Given the description of an element on the screen output the (x, y) to click on. 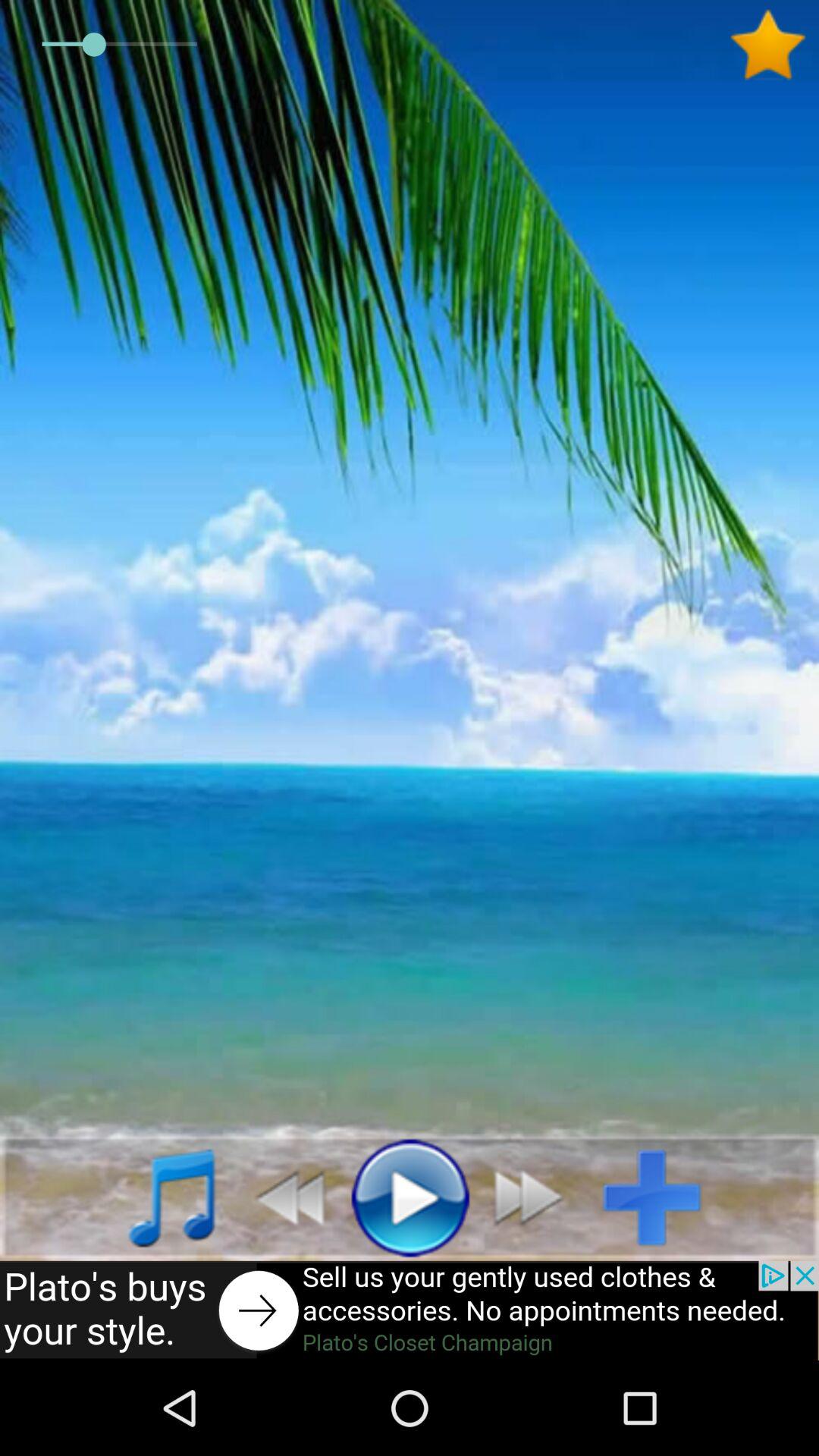
go to previous (536, 1196)
